Given the description of an element on the screen output the (x, y) to click on. 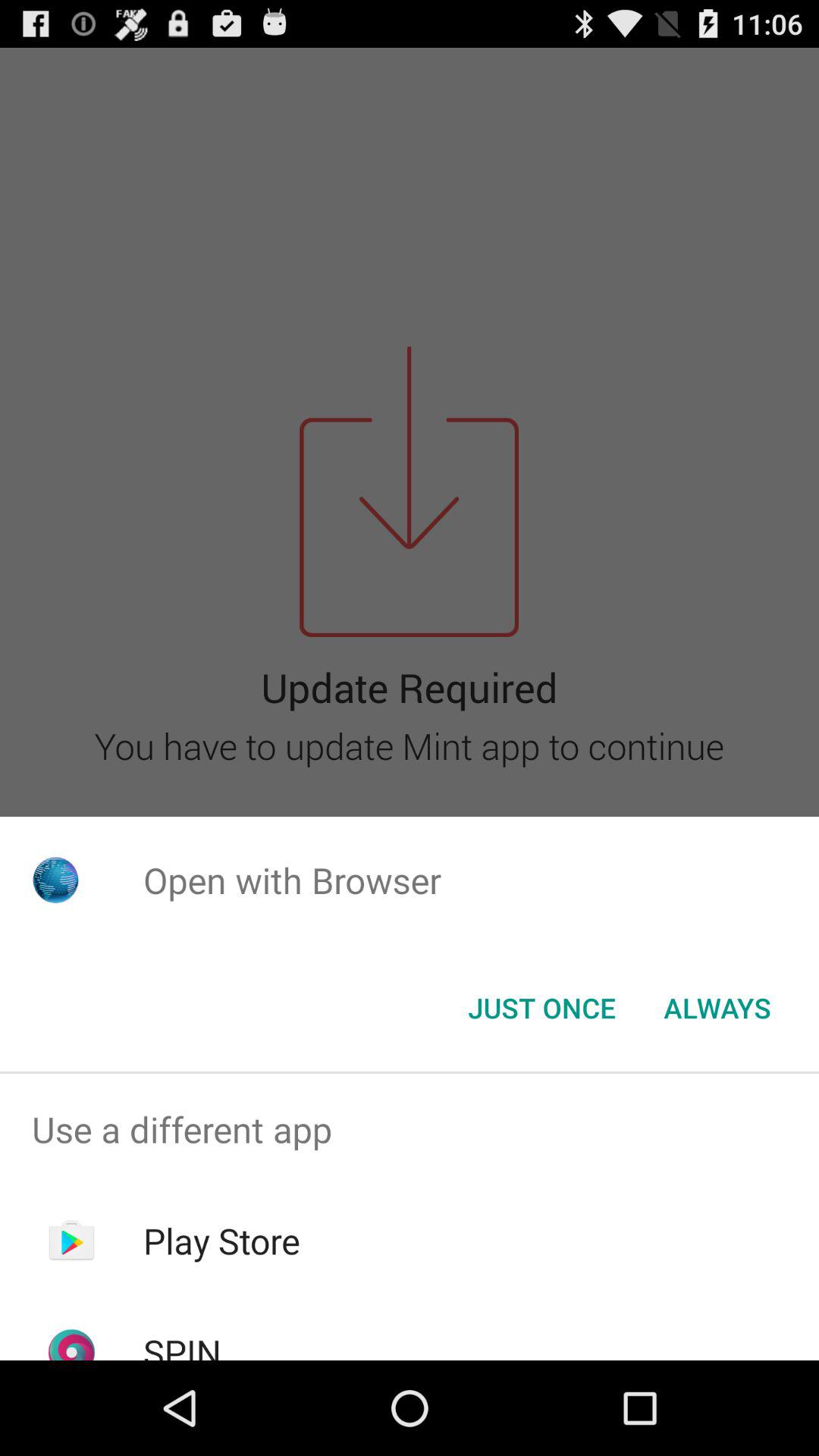
launch icon above the play store app (409, 1129)
